Given the description of an element on the screen output the (x, y) to click on. 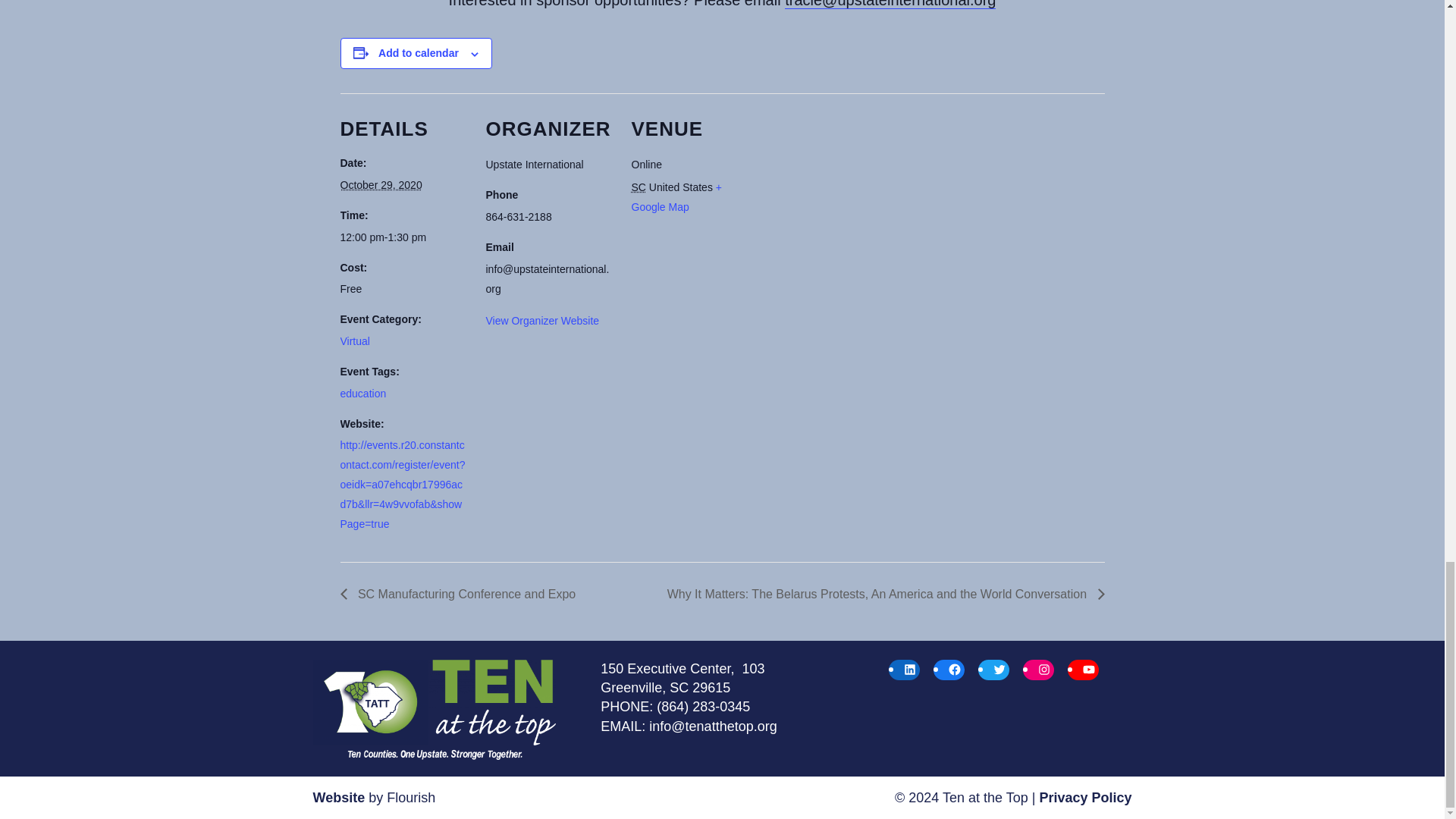
2020-10-29 (380, 184)
South Carolina (637, 186)
Click to view a Google Map (675, 196)
2020-10-29 (403, 237)
Event Body (721, 6)
Google maps iframe displaying the address to Online (856, 197)
